Given the description of an element on the screen output the (x, y) to click on. 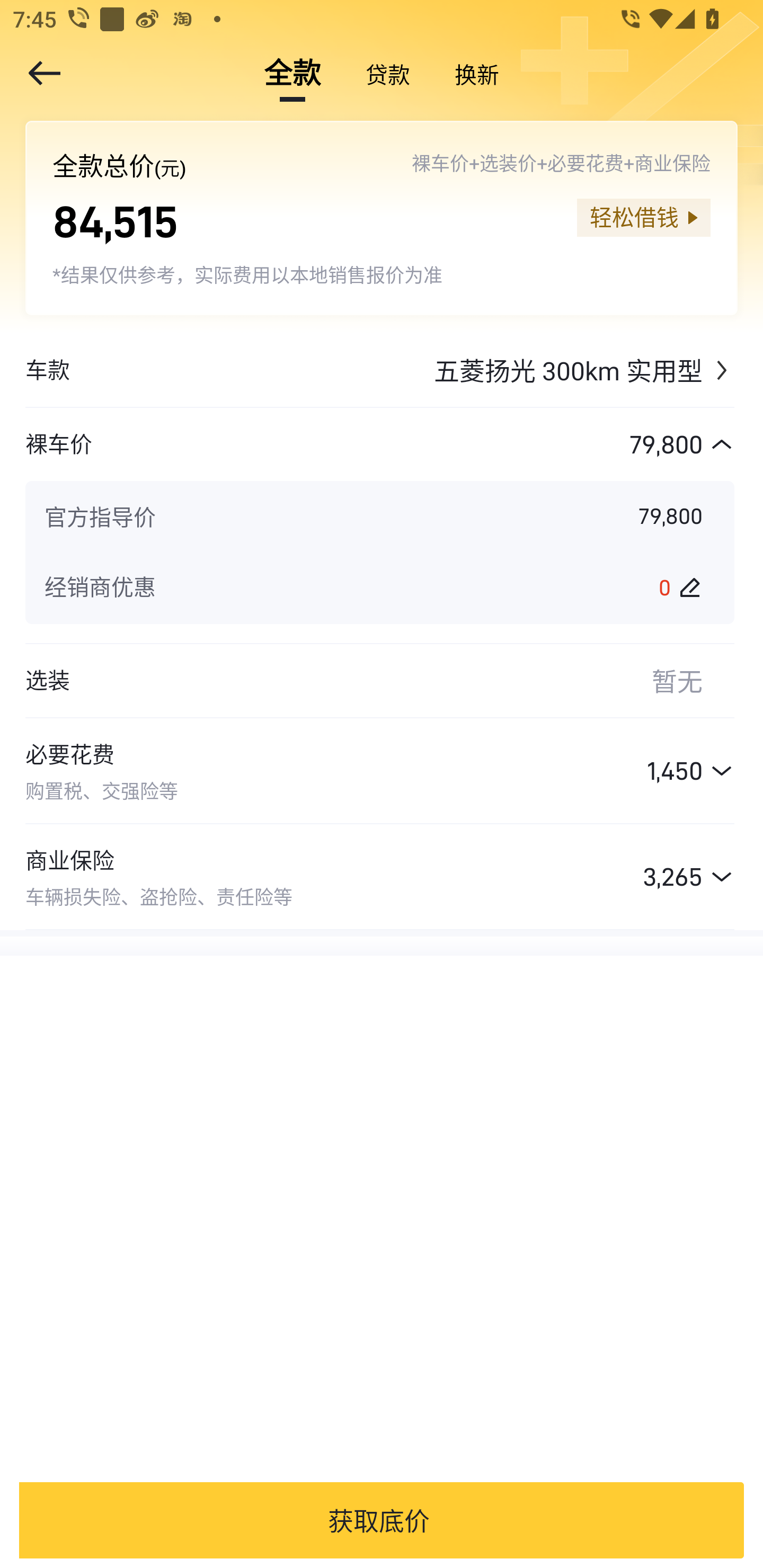
全款 (292, 72)
贷款 (387, 72)
换新 (476, 72)
轻松借钱 (643, 217)
五菱扬光 300km 实用型 (402, 369)
获取底价 (378, 1519)
